Given the description of an element on the screen output the (x, y) to click on. 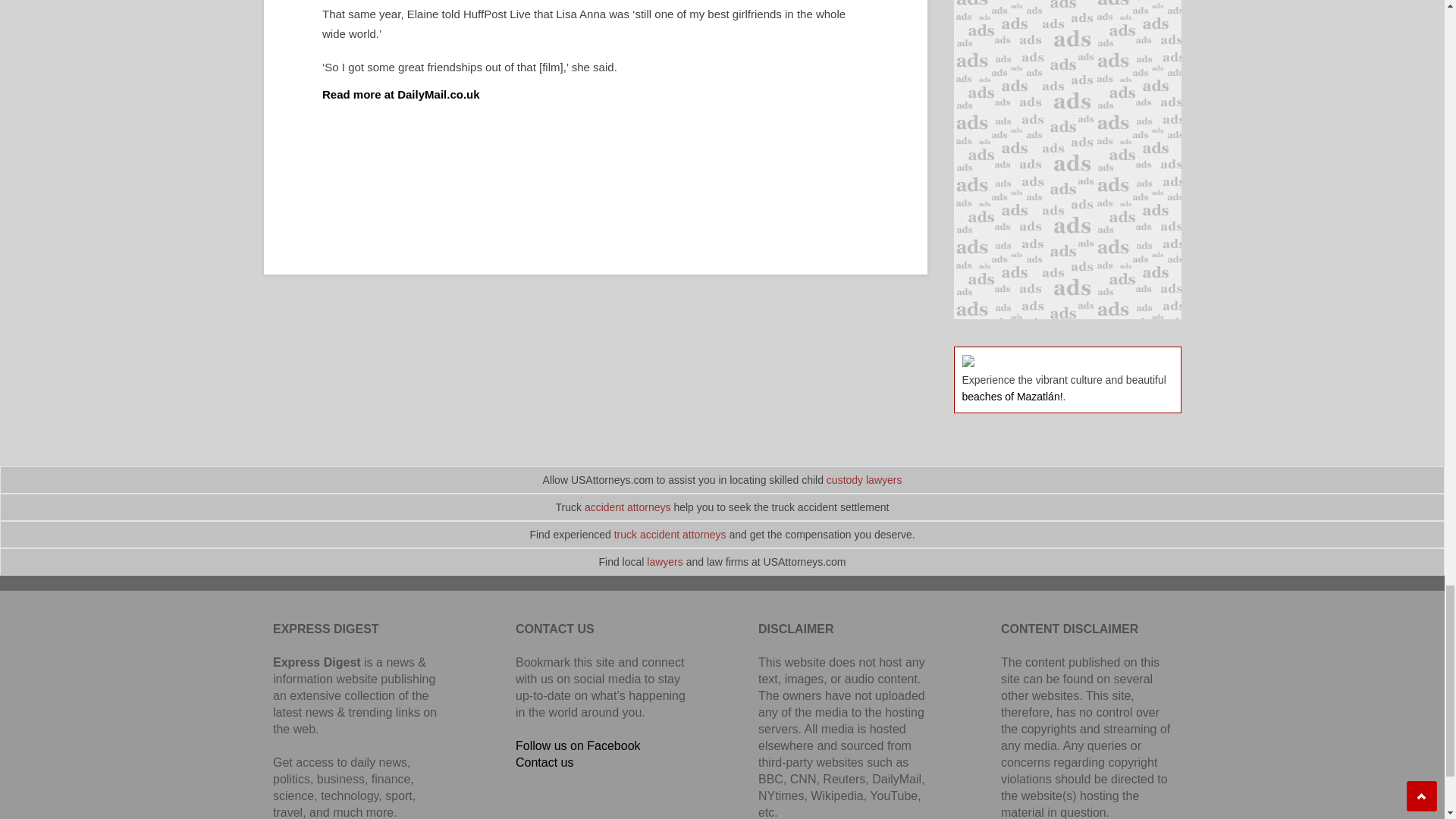
truck accident attorneys (670, 534)
lawyers (664, 562)
custody lawyers (864, 480)
accident attorneys (628, 507)
Read more at DailyMail.co.uk (400, 93)
